Given the description of an element on the screen output the (x, y) to click on. 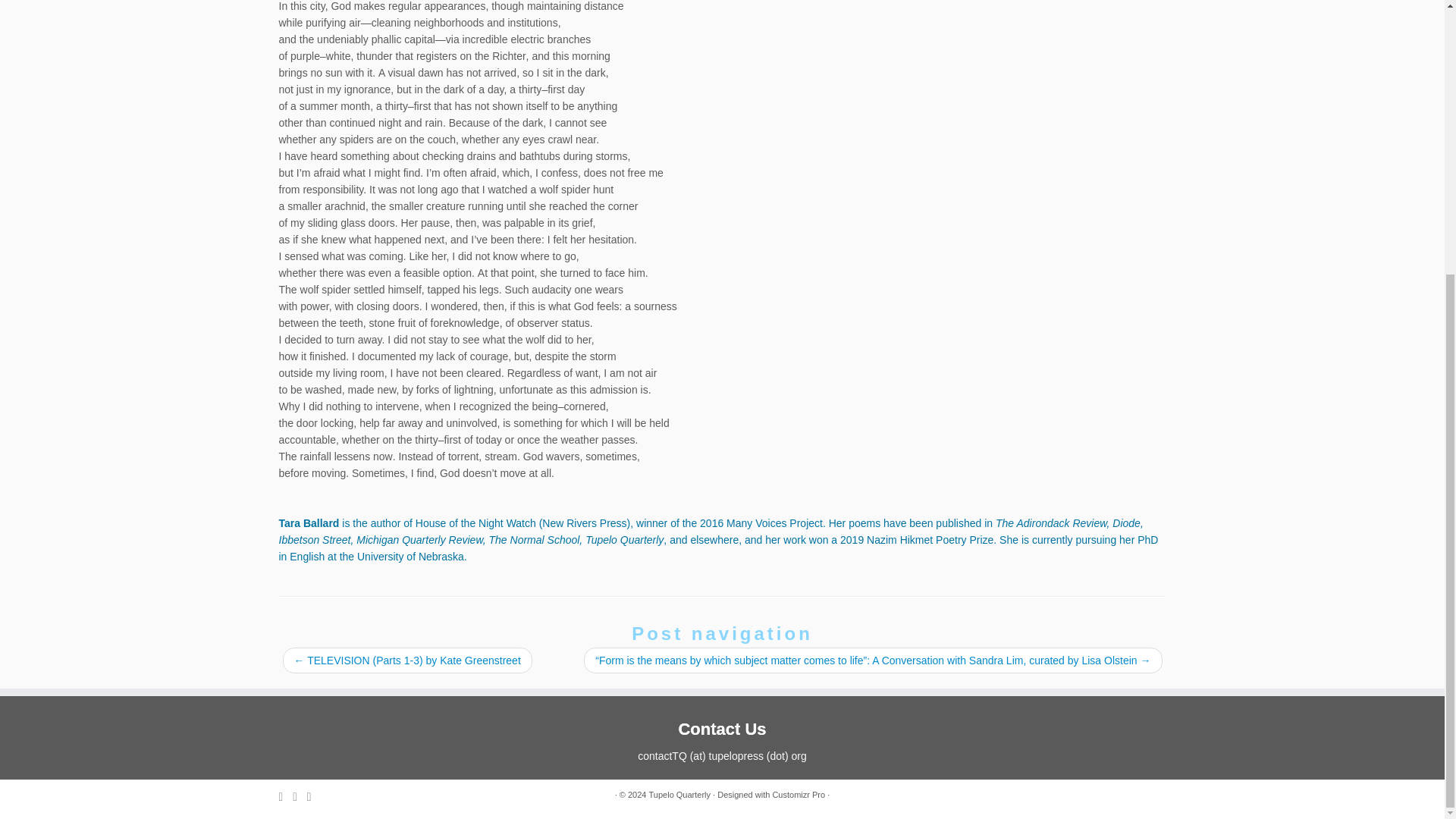
Tupelo Quarterly (680, 795)
Follow me on Twitter (299, 796)
Subscribe to my rss feed (286, 796)
Customizr Pro (798, 795)
Follow me on Facebook (314, 796)
